Given the description of an element on the screen output the (x, y) to click on. 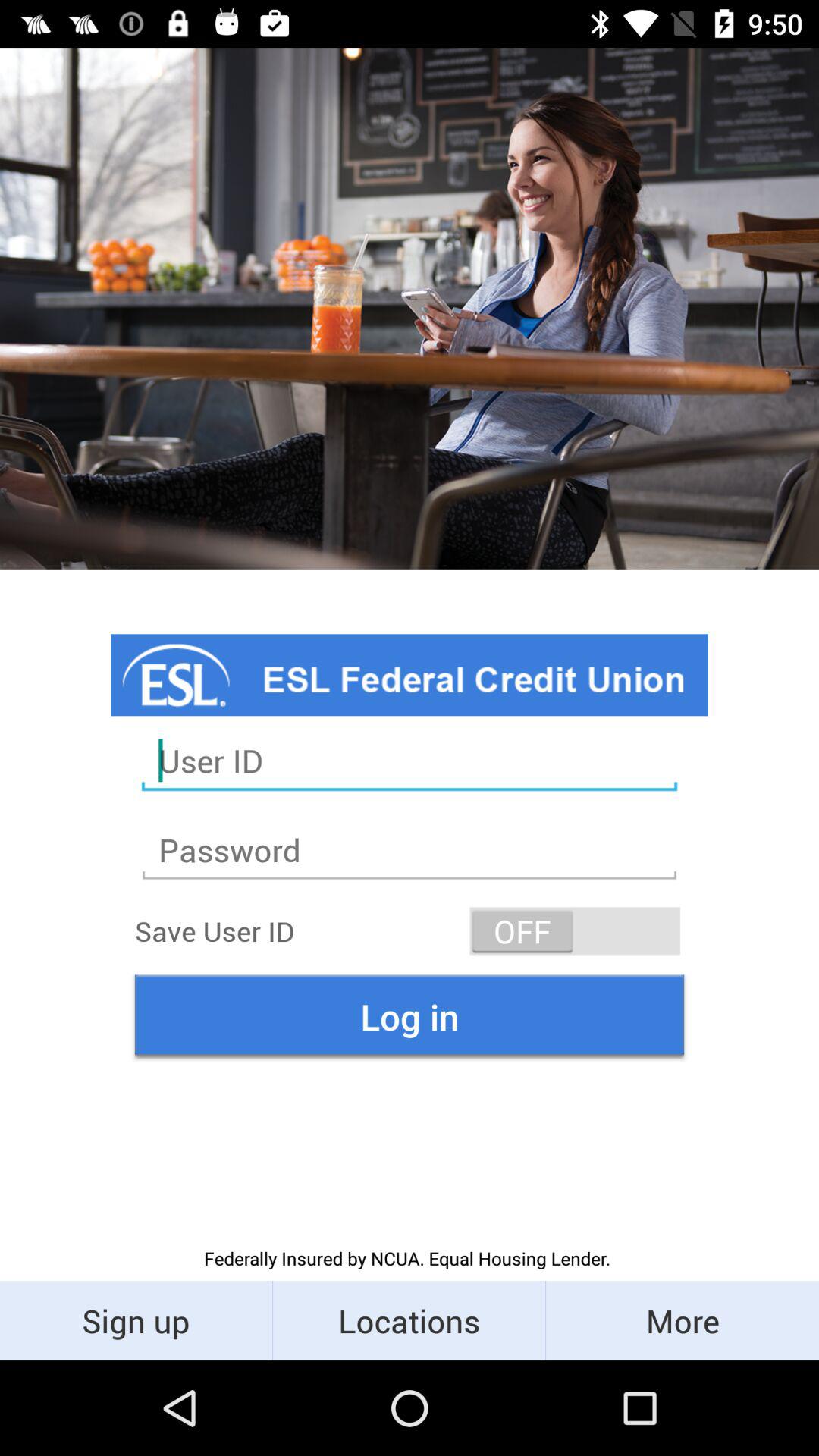
launch log in (409, 1016)
